Given the description of an element on the screen output the (x, y) to click on. 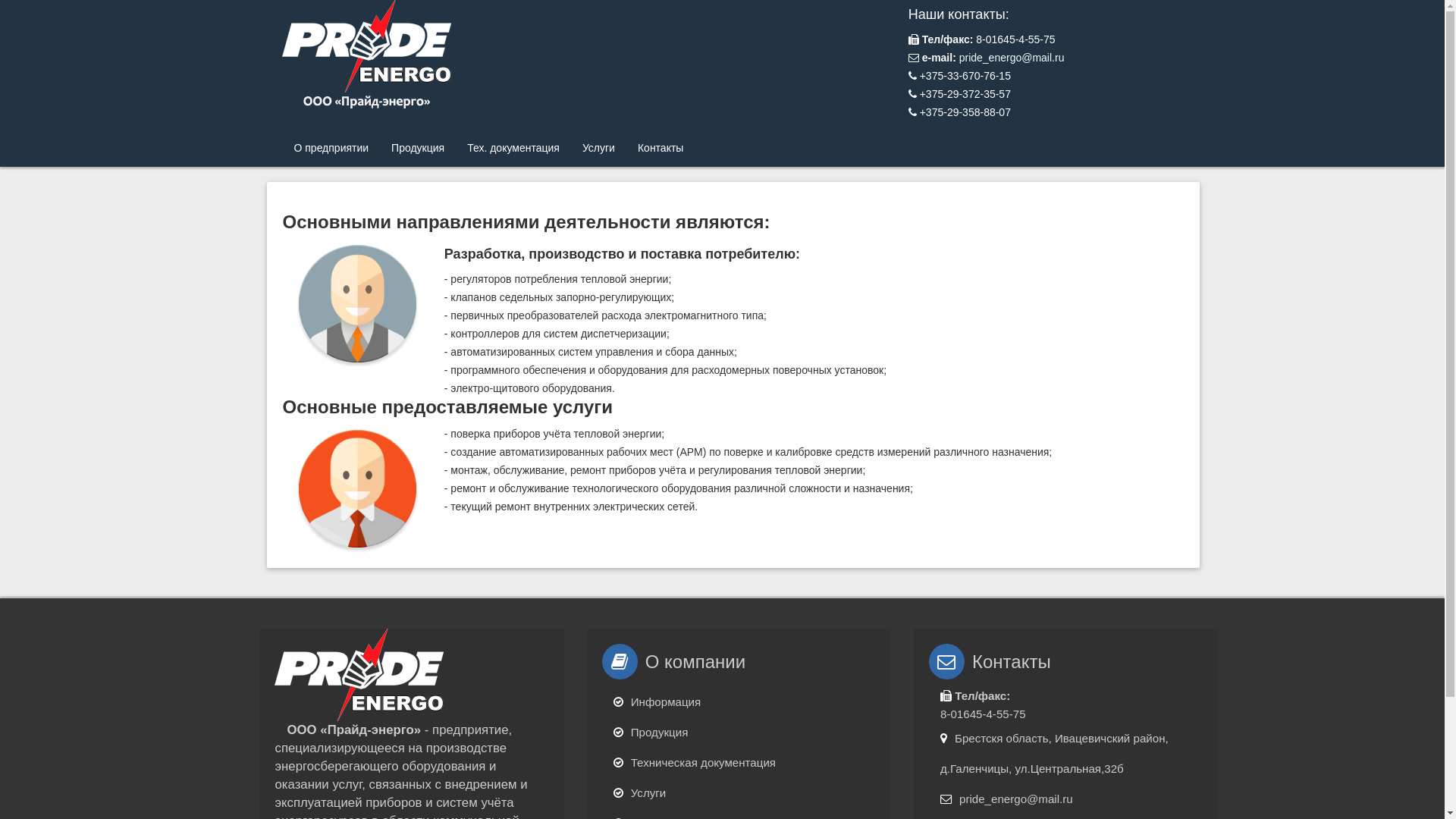
pride_energo@mail.ru Element type: text (1011, 57)
pride_energo@mail.ru Element type: text (1016, 798)
